Given the description of an element on the screen output the (x, y) to click on. 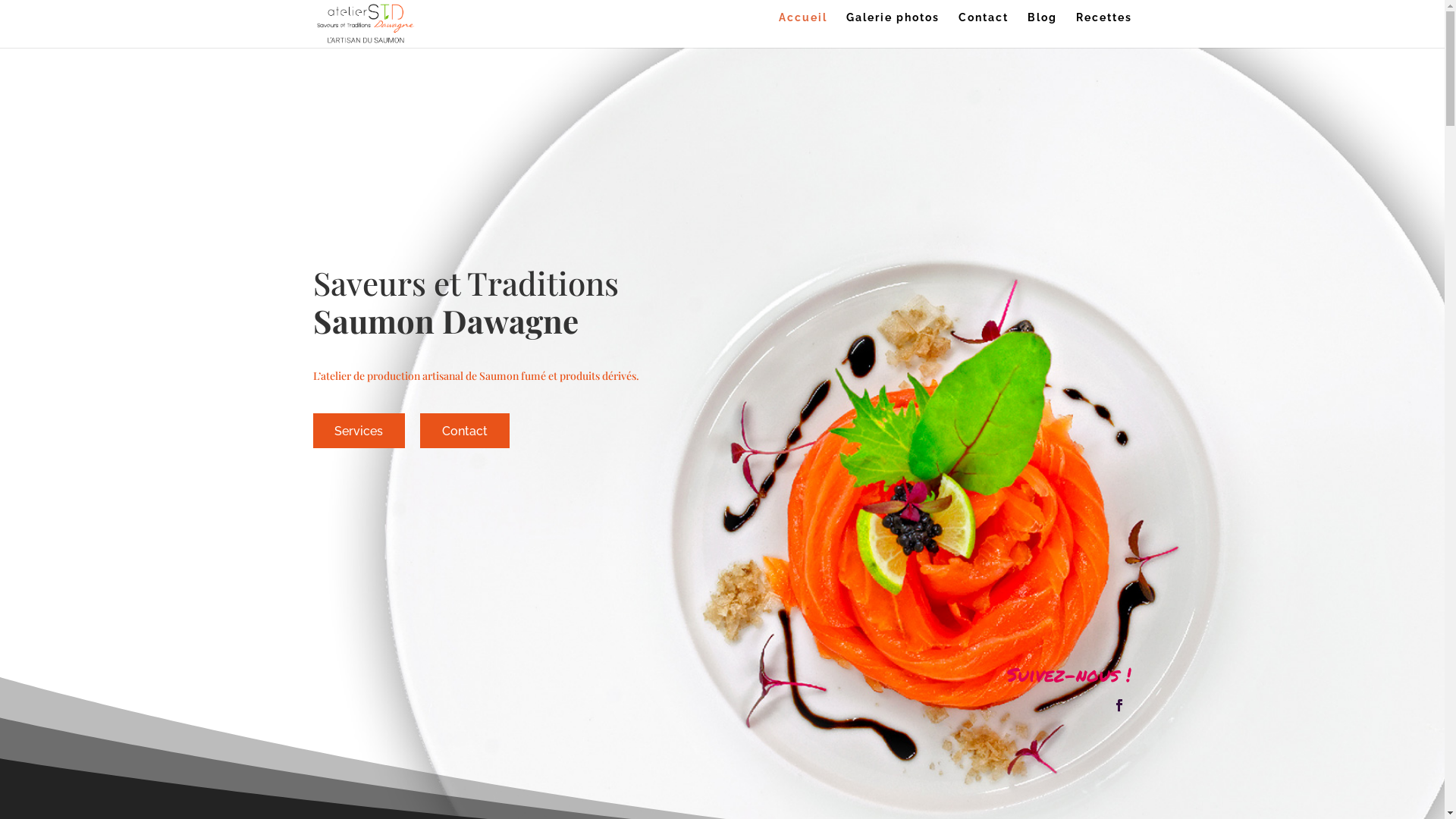
Contact Element type: text (464, 430)
Contact Element type: text (983, 29)
Services Element type: text (358, 430)
Blog Element type: text (1041, 29)
Accueil Element type: text (802, 29)
Suivez sur Facebook Element type: hover (1119, 705)
Recettes Element type: text (1103, 29)
Galerie photos Element type: text (892, 29)
